Given the description of an element on the screen output the (x, y) to click on. 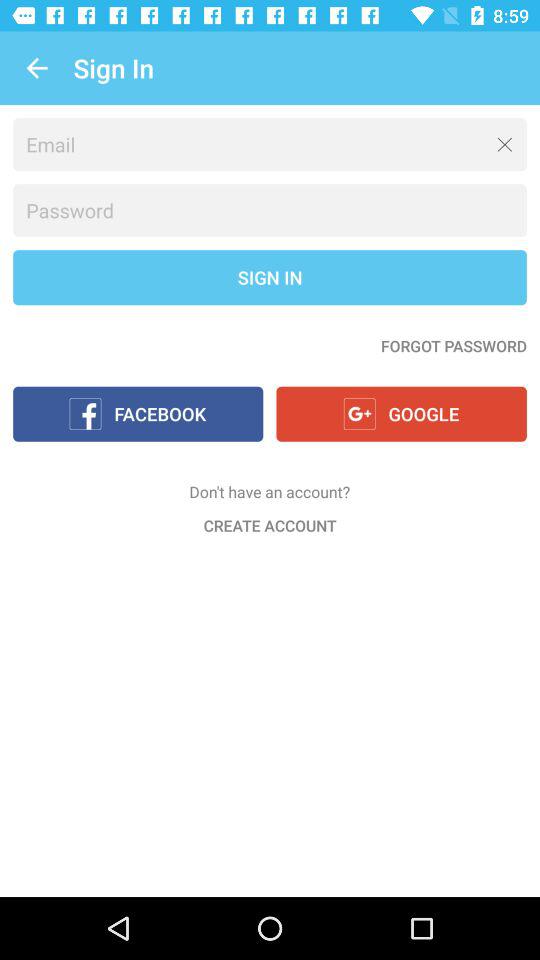
enter password (269, 210)
